Given the description of an element on the screen output the (x, y) to click on. 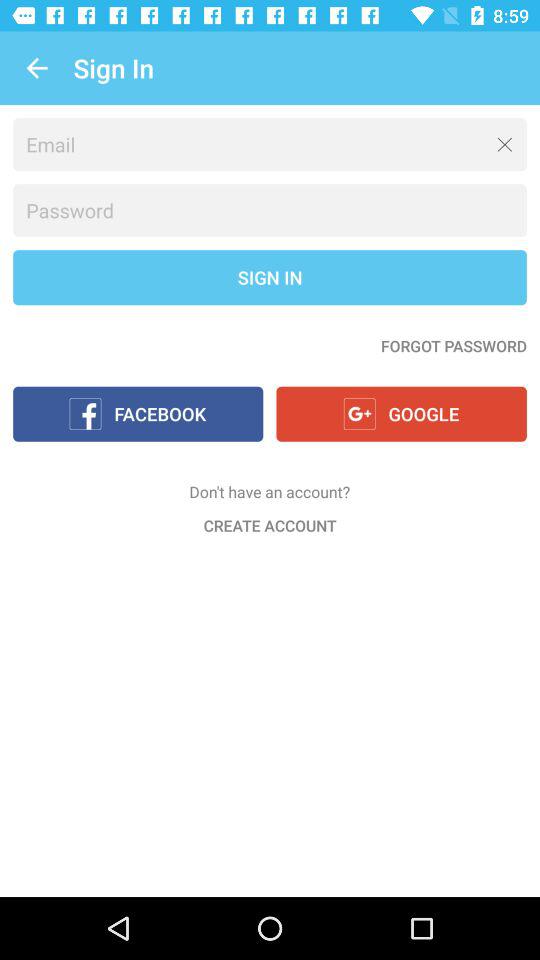
enter password (269, 210)
